Given the description of an element on the screen output the (x, y) to click on. 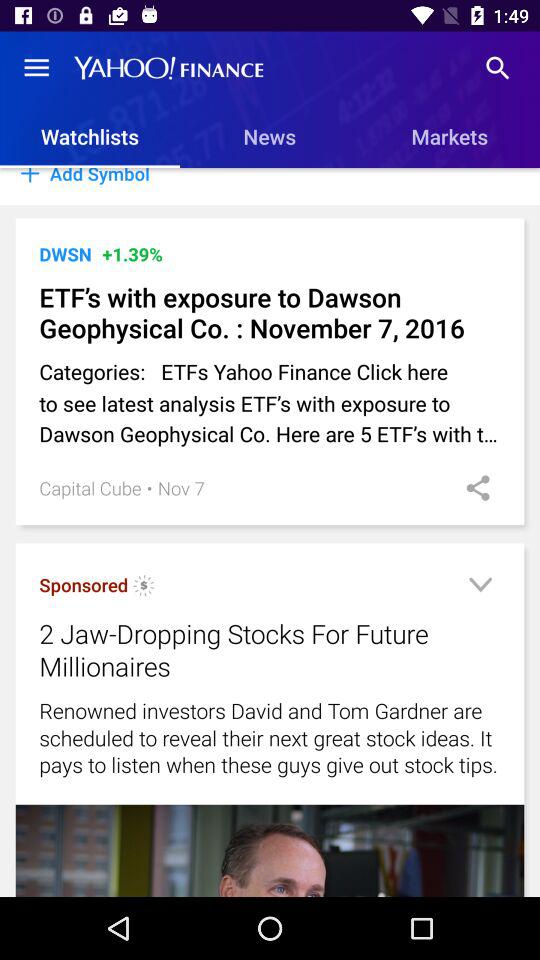
select icon to the left of the nov 7 icon (149, 487)
